Given the description of an element on the screen output the (x, y) to click on. 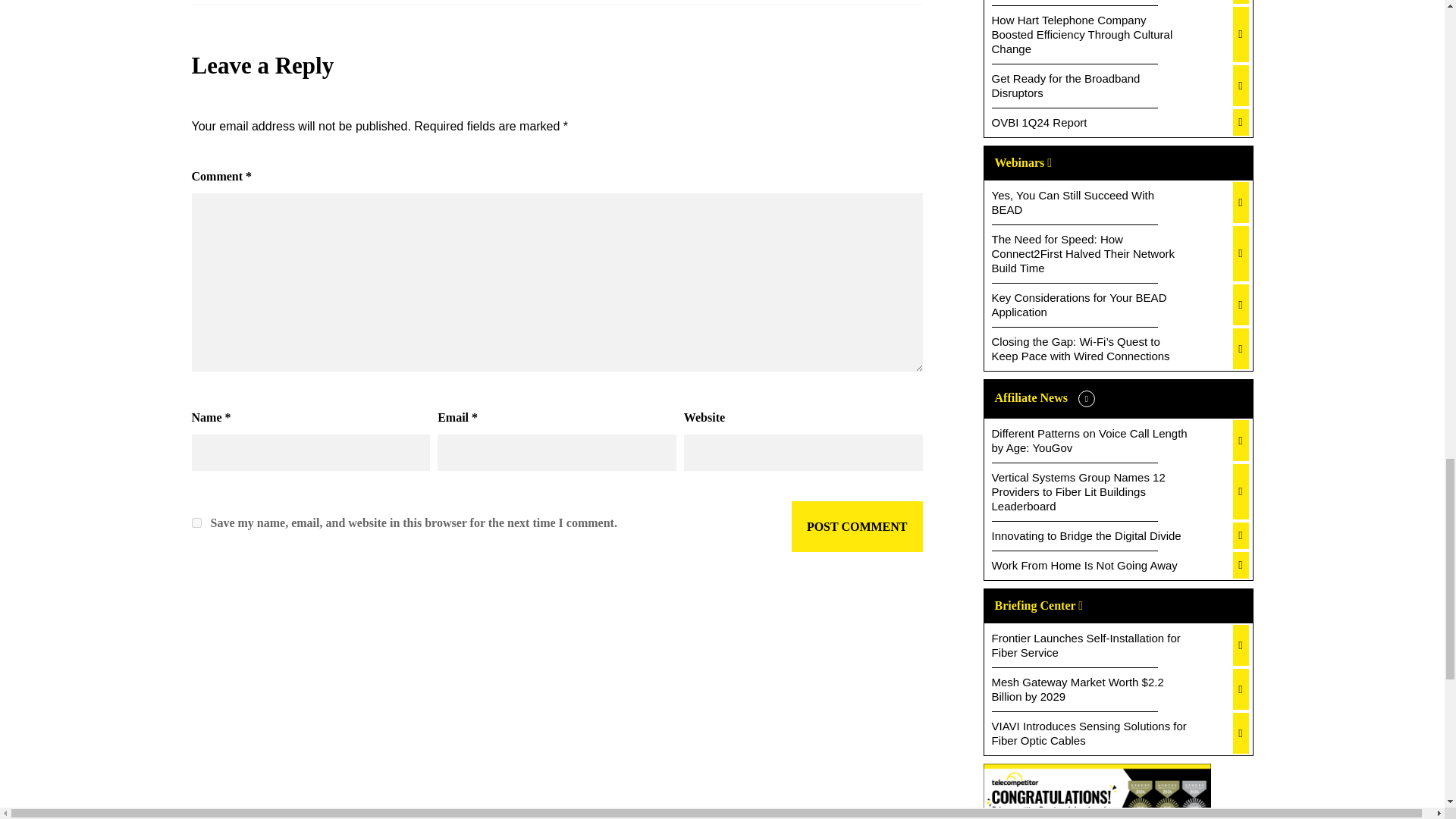
yes (195, 522)
Post Comment (857, 526)
Telecompetitor Wins Azbee Award (1095, 791)
